Given the description of an element on the screen output the (x, y) to click on. 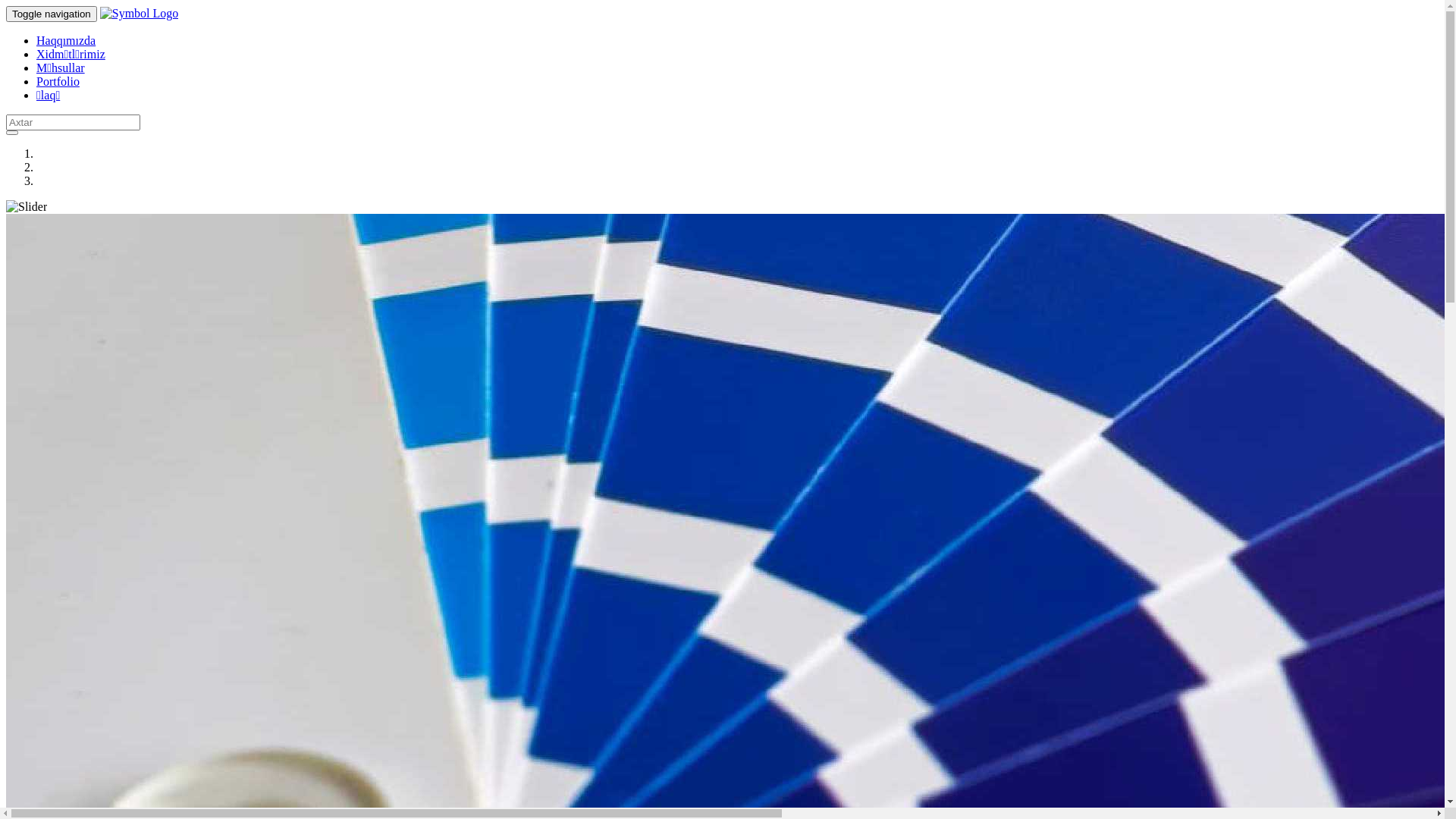
Toggle navigation Element type: text (51, 13)
Portfolio Element type: text (57, 81)
